Given the description of an element on the screen output the (x, y) to click on. 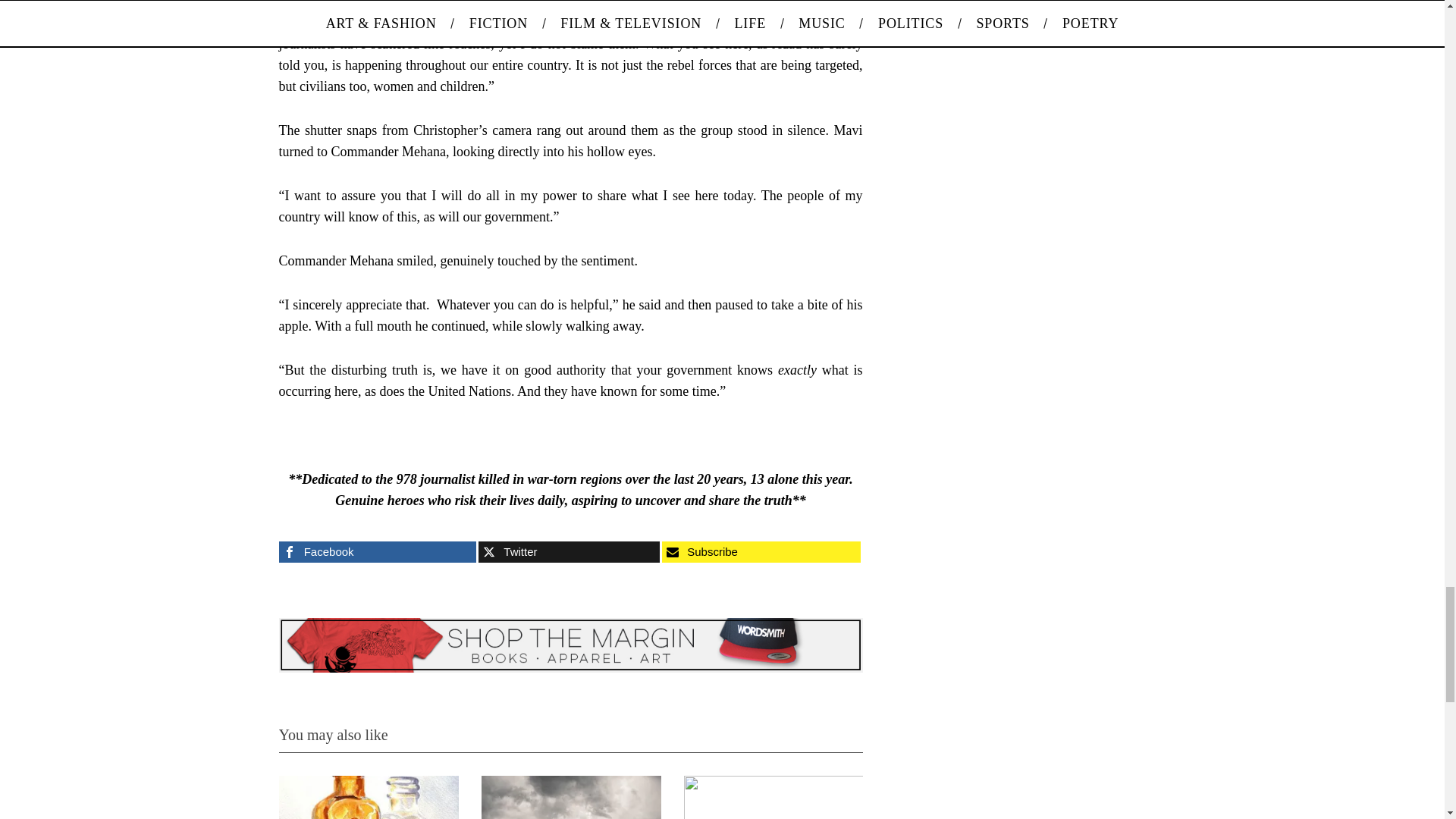
Subscribe (761, 551)
Facebook (378, 551)
Twitter (569, 551)
